Given the description of an element on the screen output the (x, y) to click on. 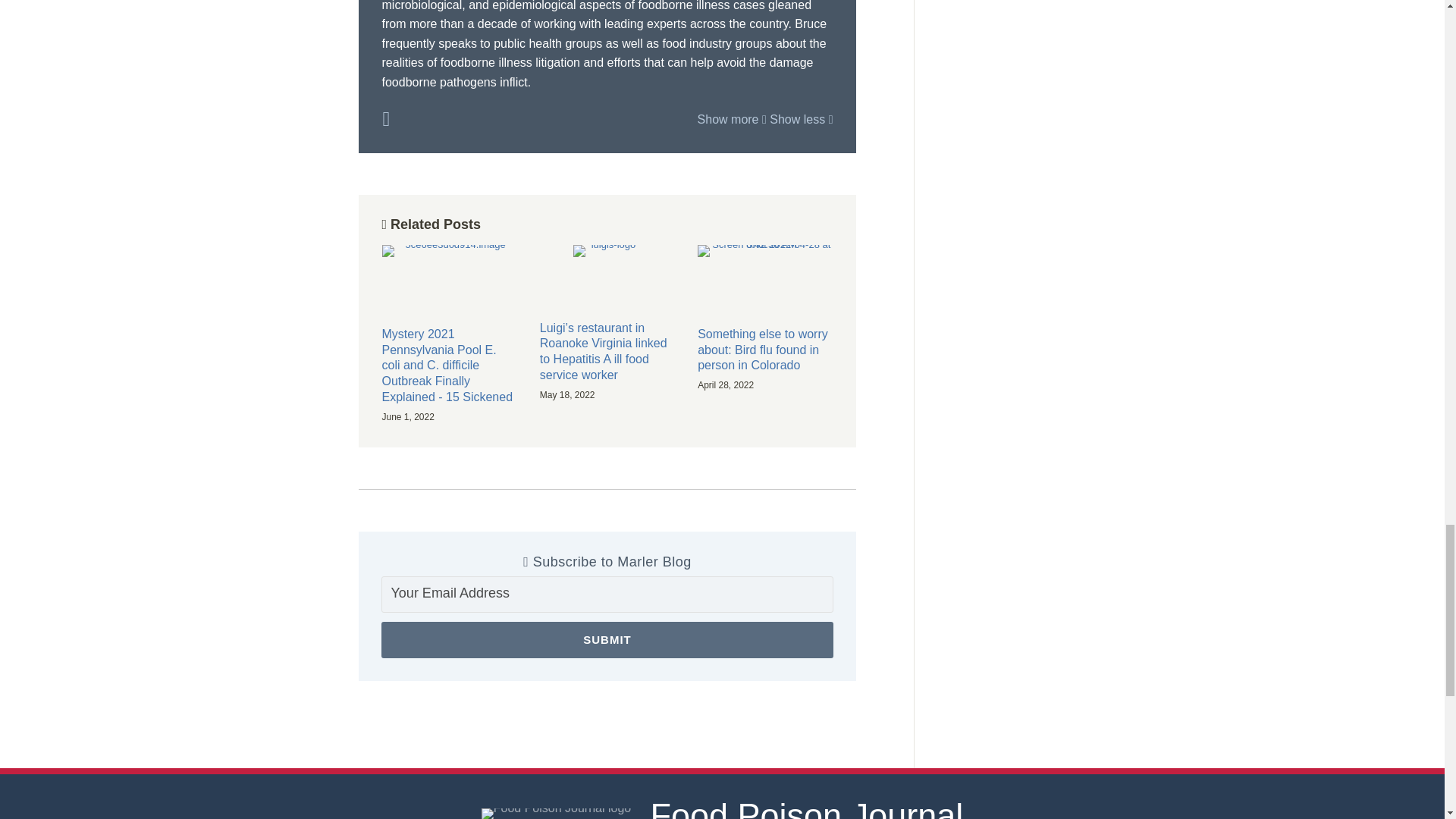
Submit (606, 639)
